Given the description of an element on the screen output the (x, y) to click on. 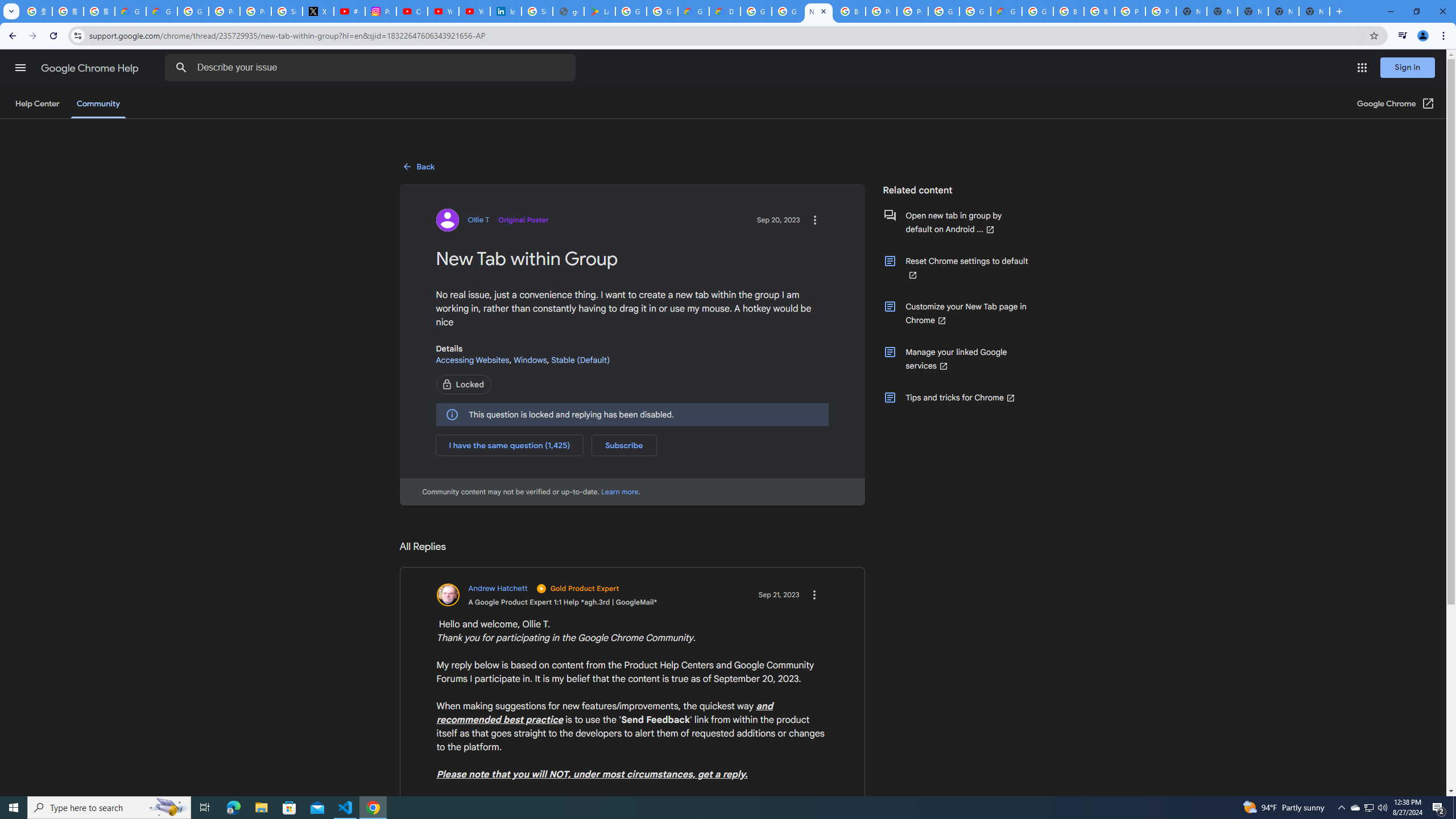
View profile for Andrew Hatchett (547, 594)
Stable (Default) (580, 359)
Google Workspace - Specific Terms (662, 11)
X (318, 11)
Google Chrome (Open in a new window) (1395, 103)
